Given the description of an element on the screen output the (x, y) to click on. 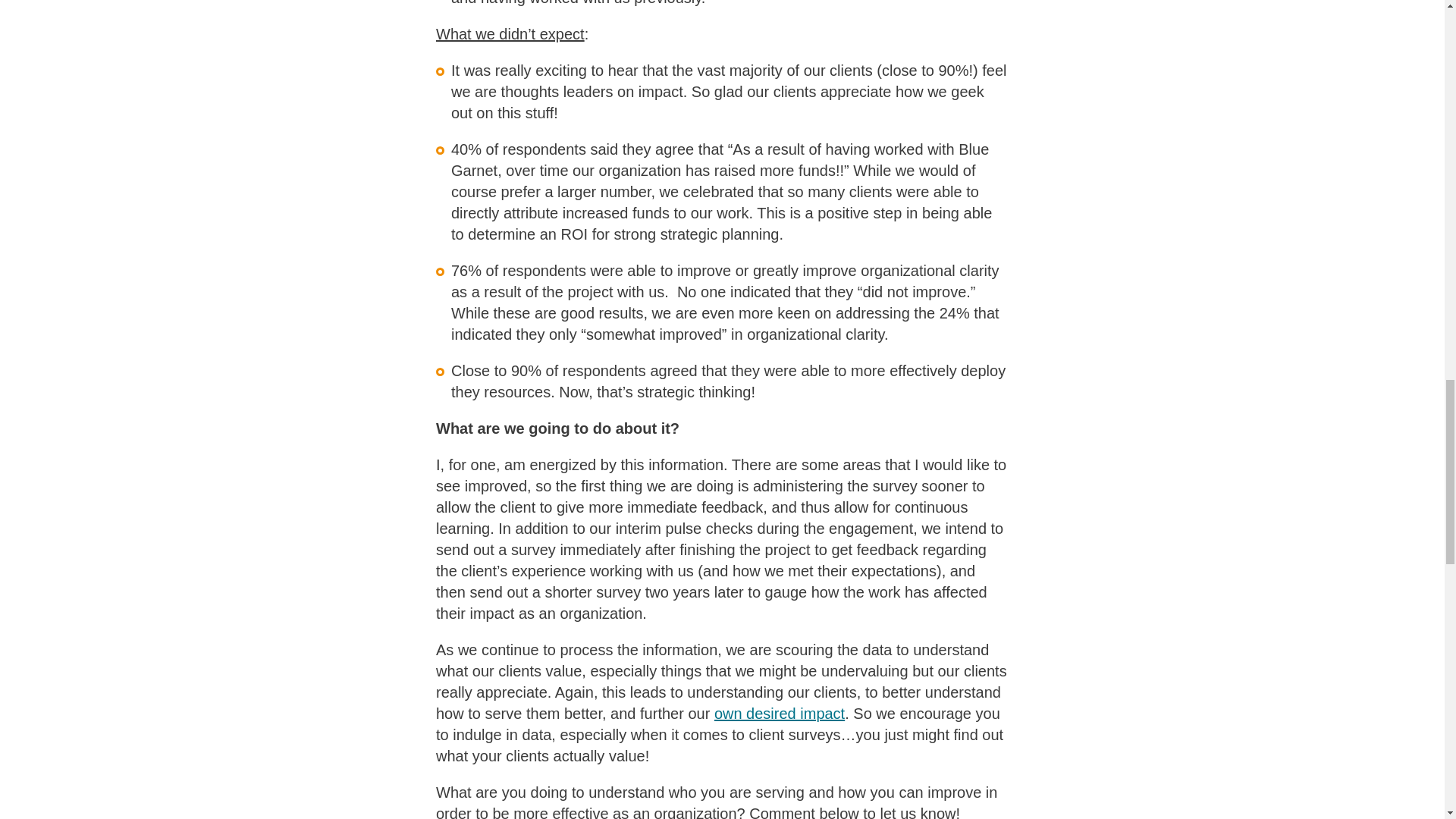
own desired impact (779, 713)
